Given the description of an element on the screen output the (x, y) to click on. 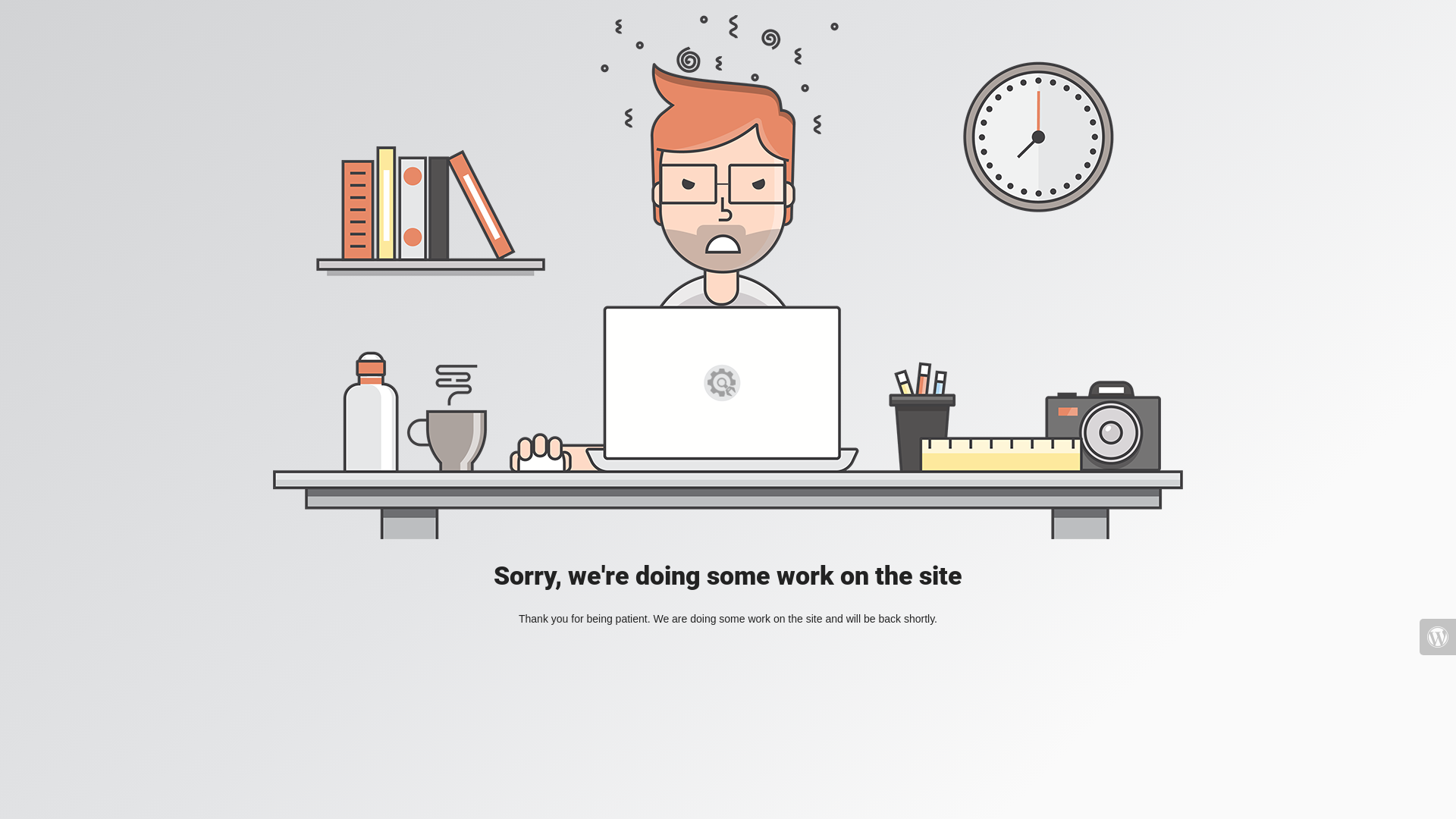
Mad Designer at work Element type: hover (728, 277)
